Given the description of an element on the screen output the (x, y) to click on. 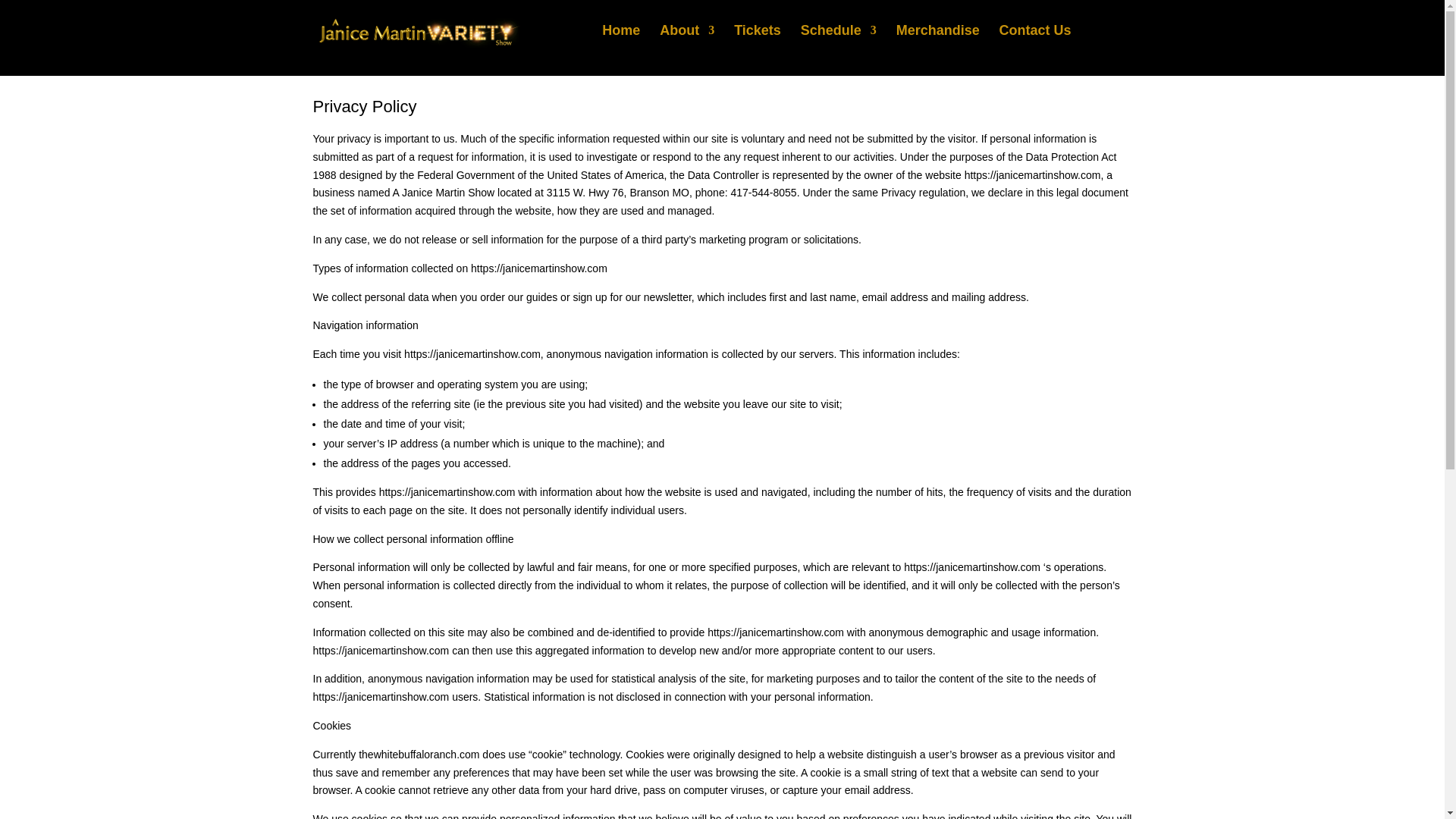
Merchandise (1259, 36)
Tickets (756, 42)
Home (621, 42)
Merchandise (937, 42)
Contact Us (1034, 42)
About (686, 42)
Schedule (1158, 36)
About (1012, 36)
Contact Us (1356, 36)
Schedule (838, 42)
